Given the description of an element on the screen output the (x, y) to click on. 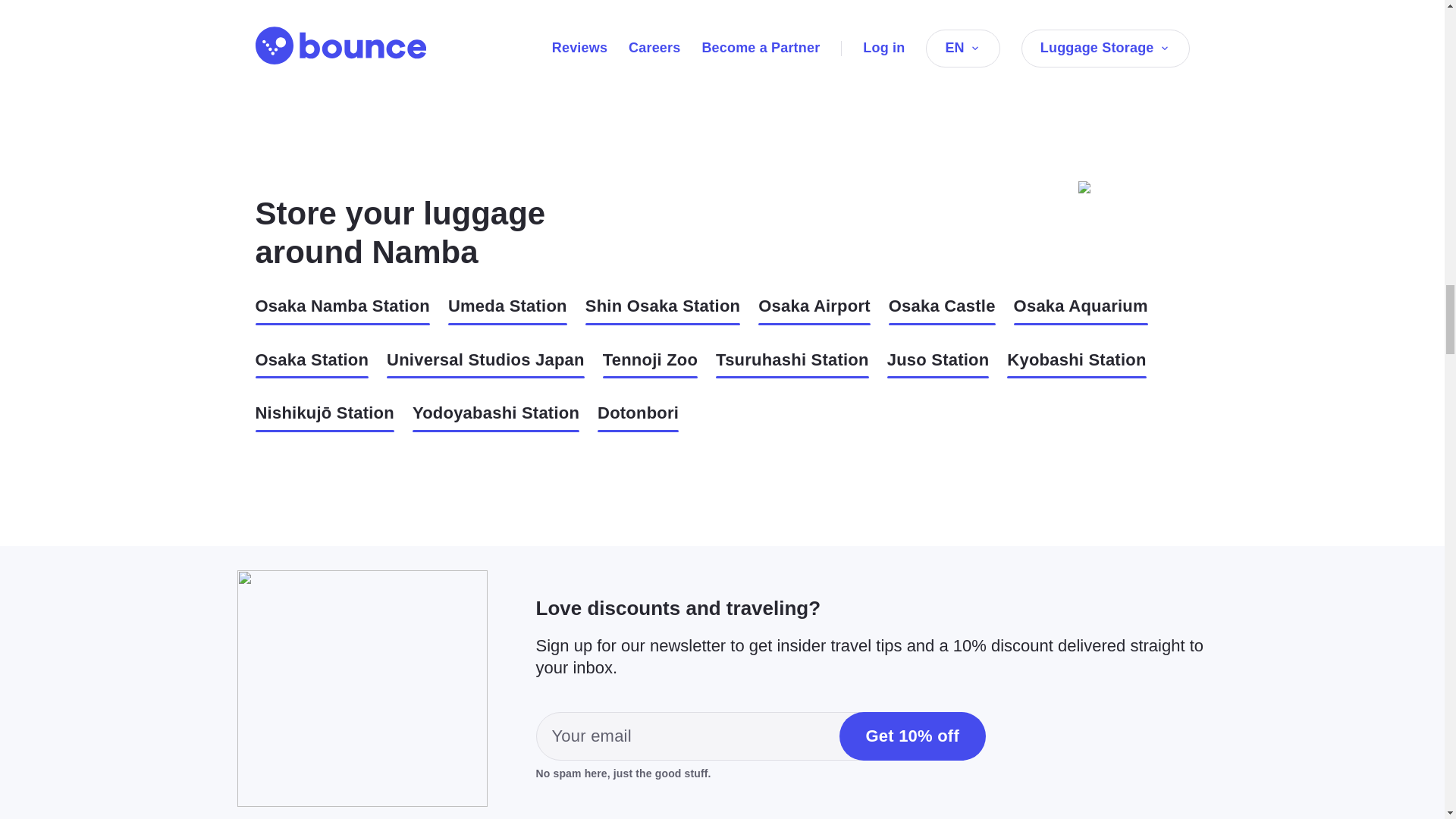
Tsuruhashi Station (792, 364)
Find closest locations (632, 3)
Yodoyabashi Station (495, 417)
Shin Osaka Station (662, 310)
Umeda Station (507, 310)
Osaka Airport (814, 310)
Osaka Namba Station (341, 310)
Universal Studios Japan (486, 364)
Juso Station (938, 364)
Osaka Castle (941, 310)
Osaka Aquarium (1080, 310)
Tennoji Zoo (649, 364)
Kyobashi Station (1076, 364)
Dotonbori (637, 417)
Osaka Station (311, 364)
